Given the description of an element on the screen output the (x, y) to click on. 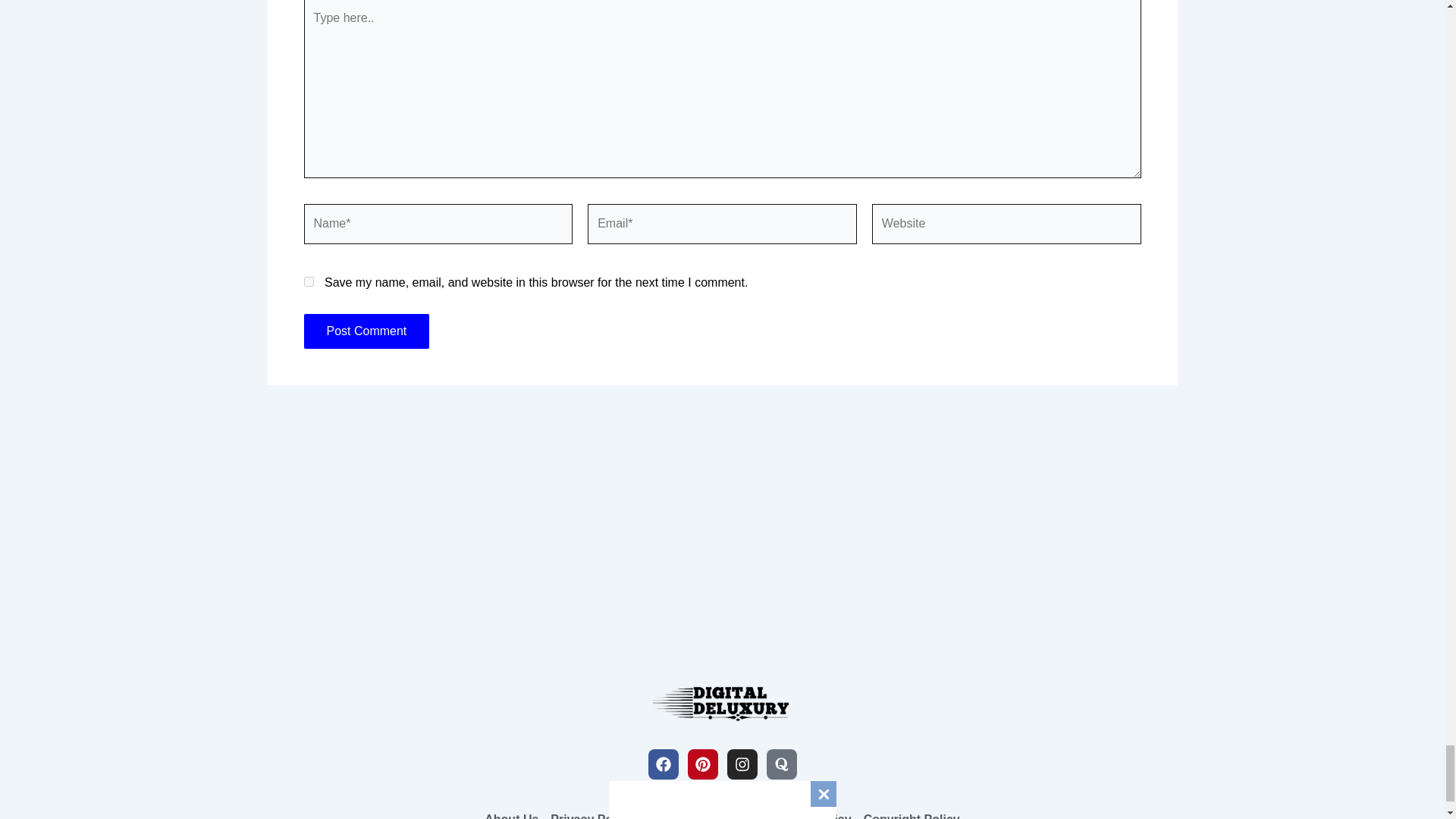
Post Comment (365, 330)
Post Comment (365, 330)
yes (307, 281)
